Given the description of an element on the screen output the (x, y) to click on. 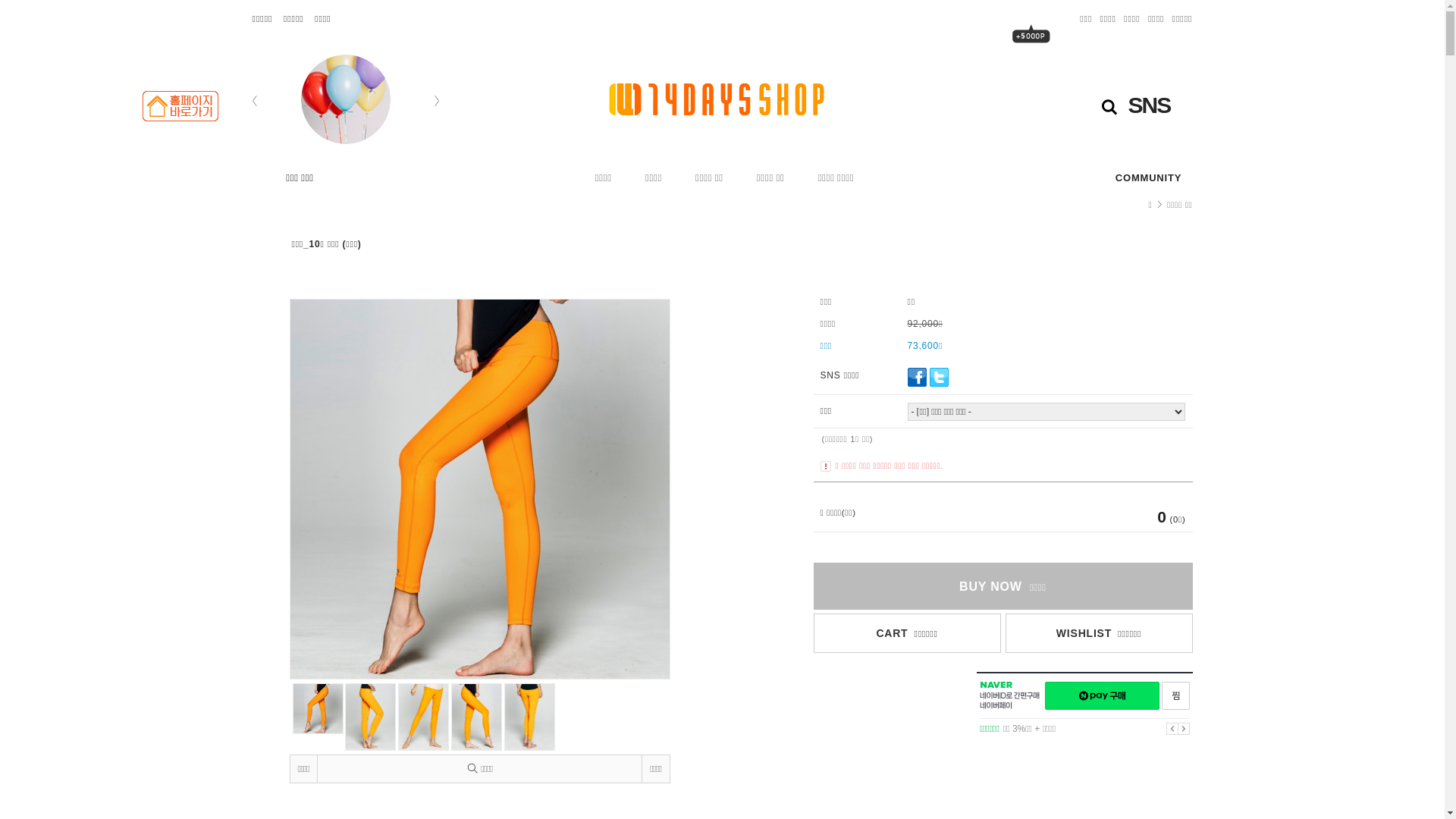
  Element type: text (721, 97)
COMMUNITY Element type: text (1148, 178)
SNS Element type: text (1166, 105)
  Element type: text (1030, 53)
